Given the description of an element on the screen output the (x, y) to click on. 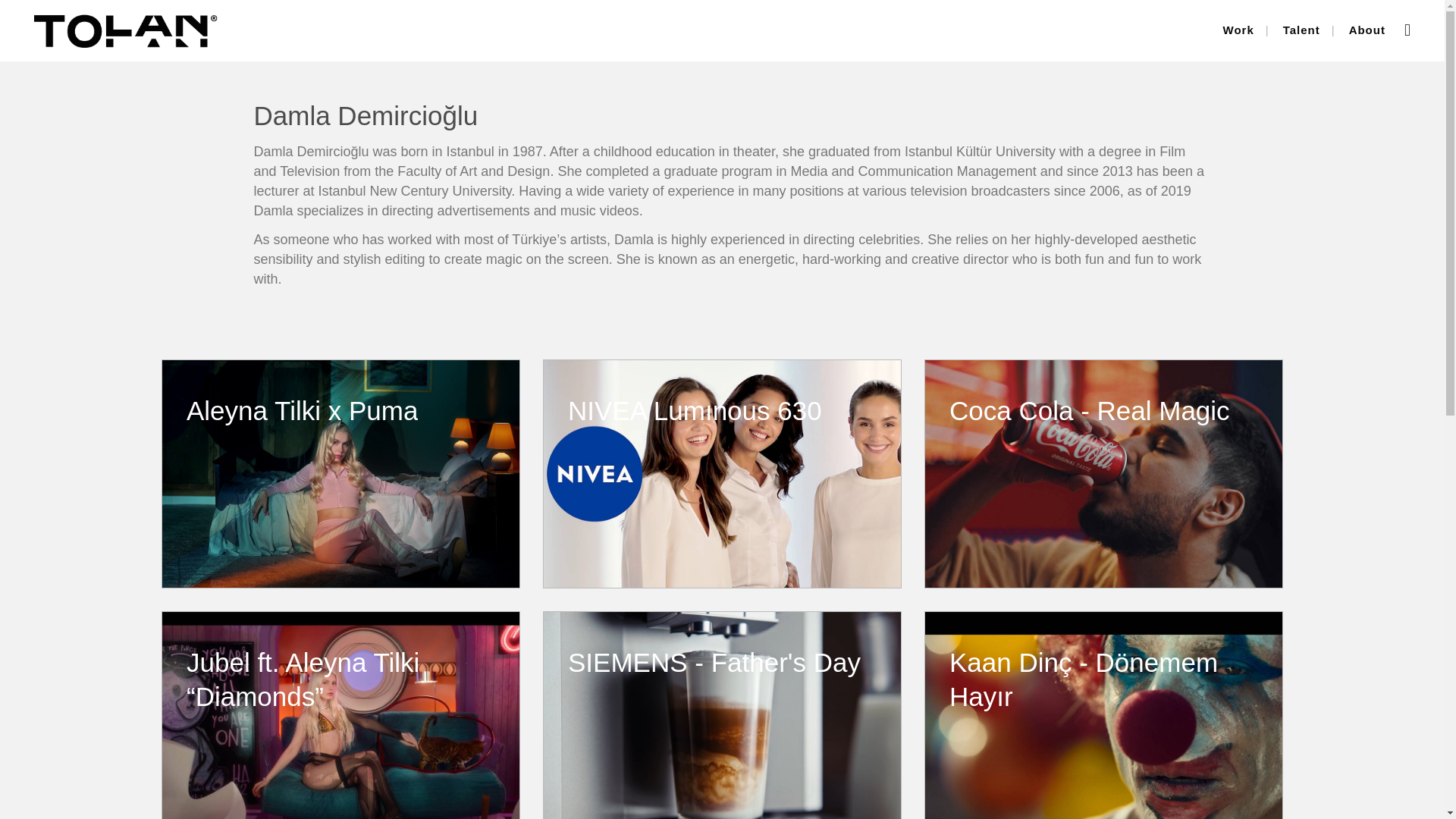
Work (1237, 30)
About (1366, 30)
Talent (1301, 30)
